Given the description of an element on the screen output the (x, y) to click on. 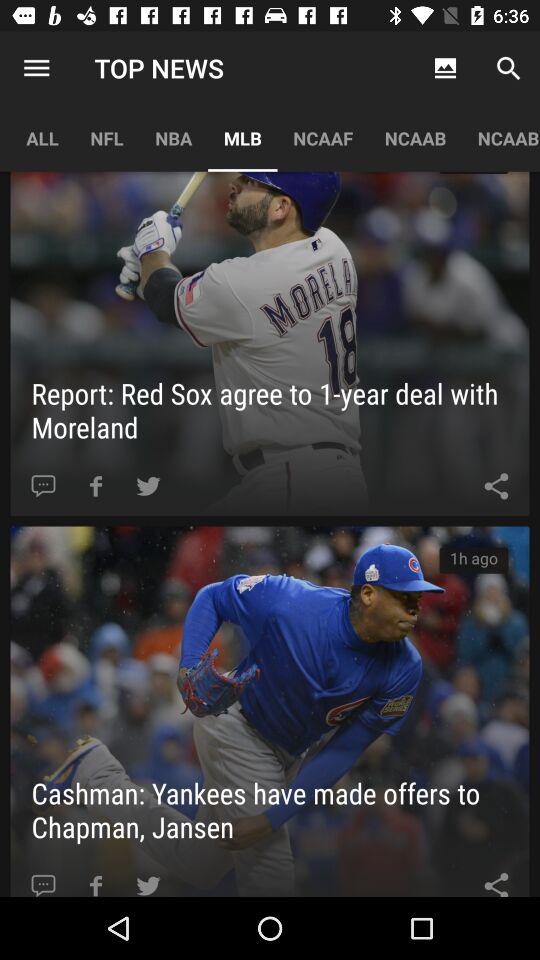
scroll until the all app (42, 138)
